Given the description of an element on the screen output the (x, y) to click on. 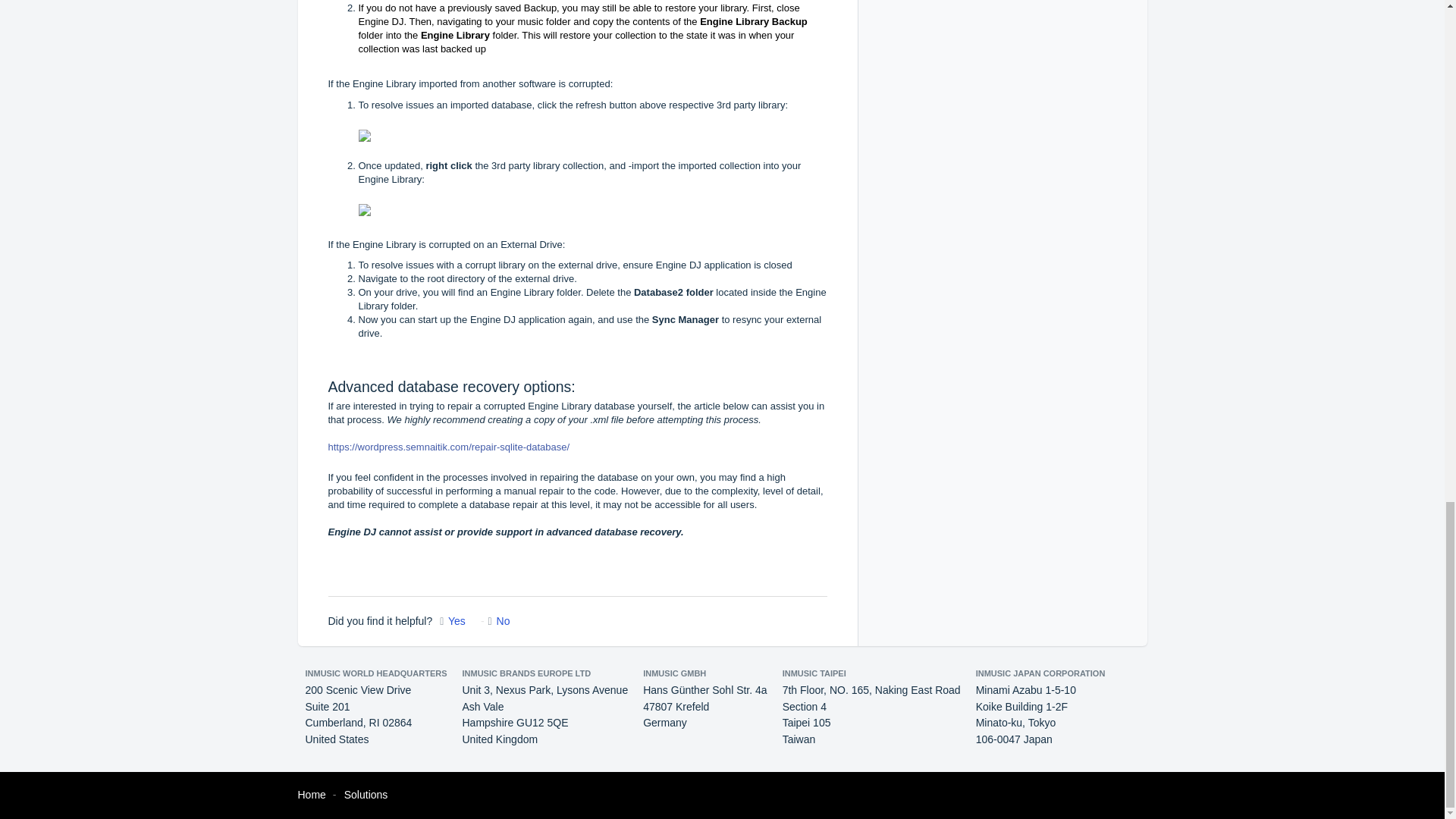
Solutions (365, 794)
Home (310, 794)
